Given the description of an element on the screen output the (x, y) to click on. 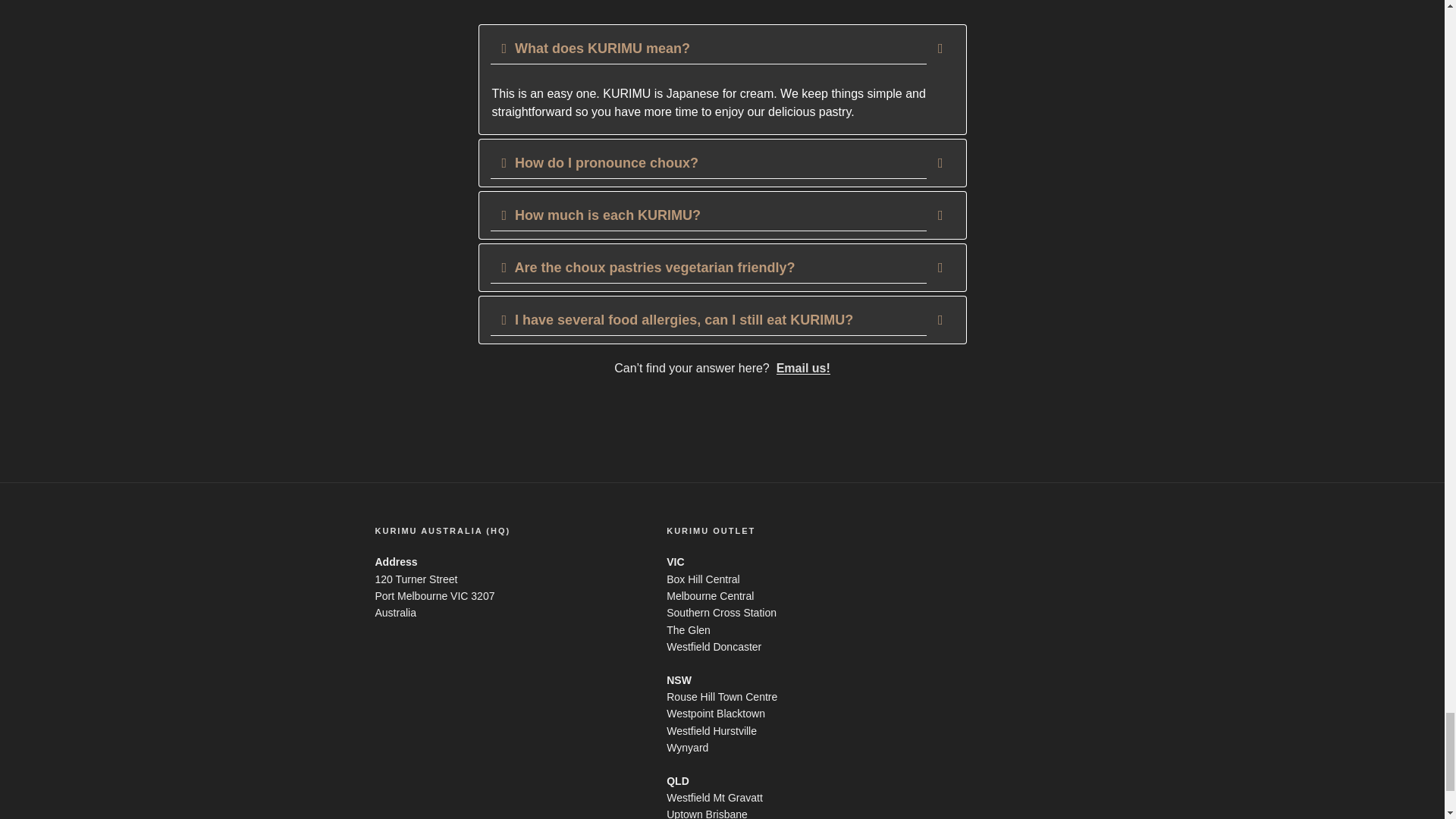
How do I pronounce choux? (721, 163)
Email us! (802, 367)
I have several food allergies, can I still eat KURIMU? (721, 319)
Are the choux pastries vegetarian friendly? (721, 267)
How much is each KURIMU? (721, 214)
What does KURIMU mean? (721, 48)
